Given the description of an element on the screen output the (x, y) to click on. 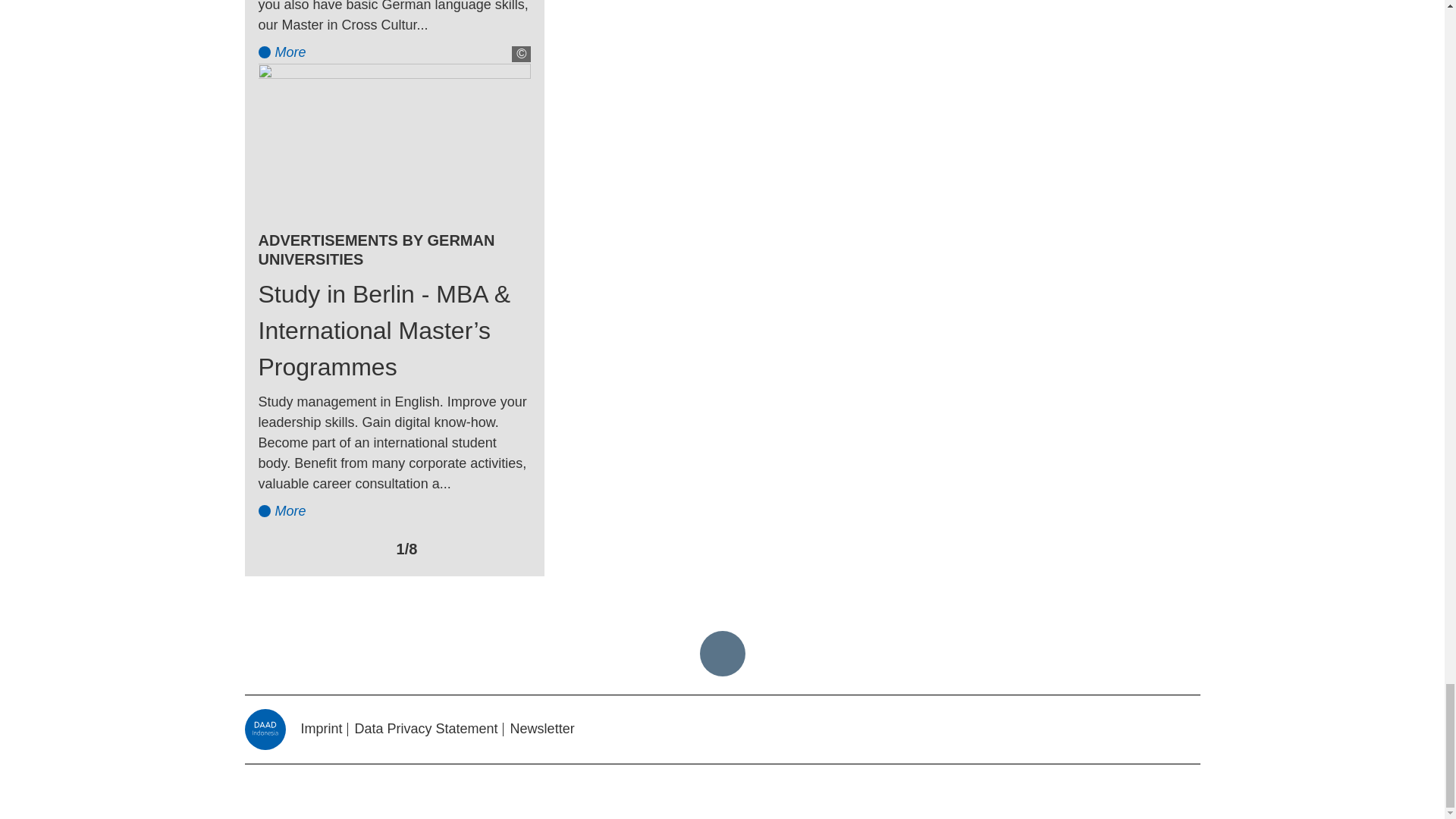
Data Privacy Statement (426, 729)
Opens new window (1163, 730)
Skip to top of page (721, 653)
Newsletter (543, 729)
Opens new window (1189, 731)
Opens new window (1135, 731)
Pause slide show (359, 548)
Imprint (320, 729)
